Given the description of an element on the screen output the (x, y) to click on. 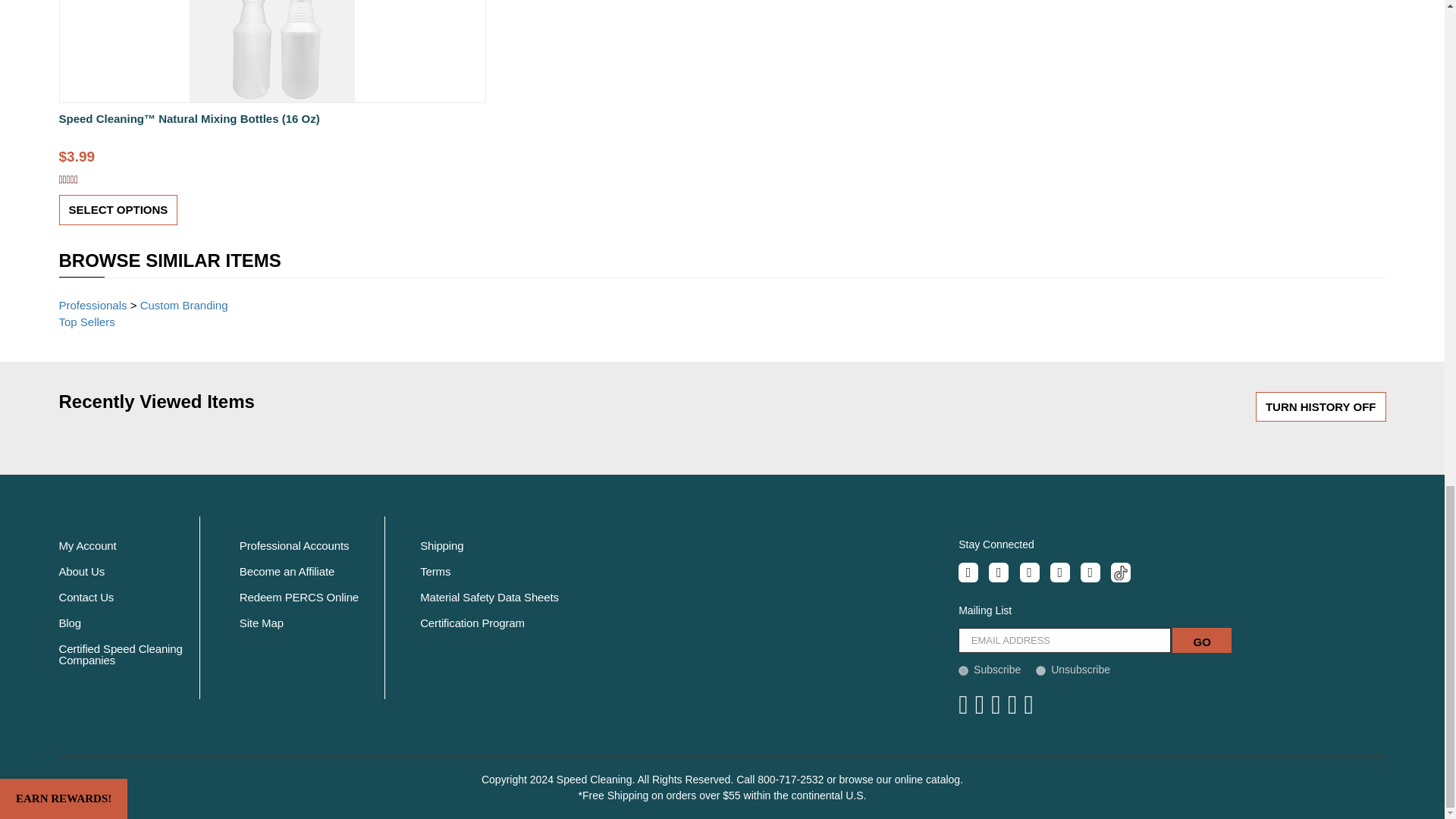
0 (1040, 670)
Like Us on Facebook (968, 572)
Subscribe to our Channel (1029, 572)
Follow Us on Twitter (998, 572)
1 (963, 670)
